Given the description of an element on the screen output the (x, y) to click on. 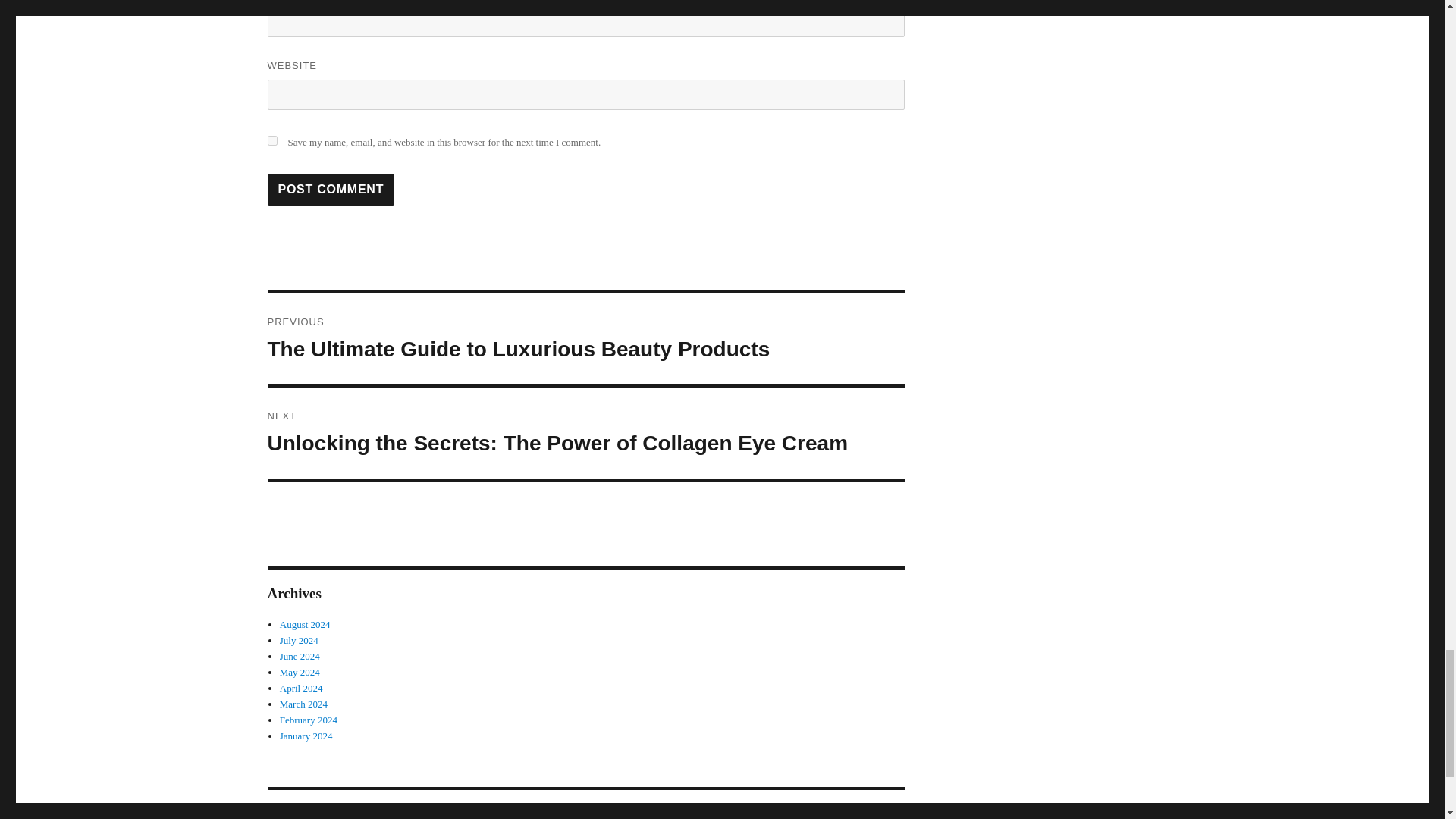
yes (271, 140)
July 2024 (298, 640)
February 2024 (308, 719)
May 2024 (299, 672)
March 2024 (303, 704)
Post Comment (330, 189)
January 2024 (306, 736)
April 2024 (301, 687)
Post Comment (330, 189)
